Given the description of an element on the screen output the (x, y) to click on. 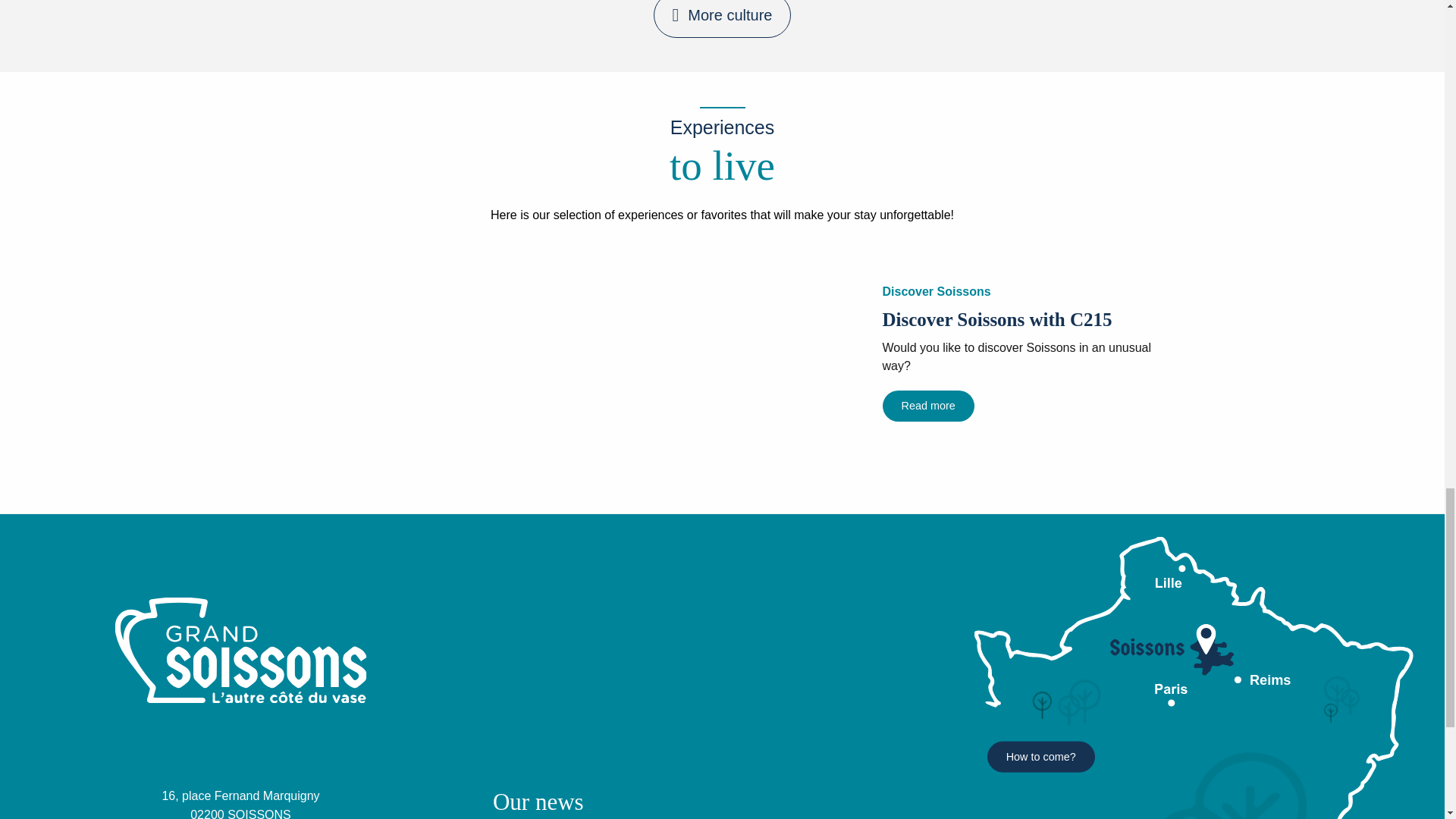
Reims (1201, 678)
How to come? (1040, 757)
More culture (722, 18)
How to come? (1040, 757)
Grand Tourisme Soissons (198, 693)
